Given the description of an element on the screen output the (x, y) to click on. 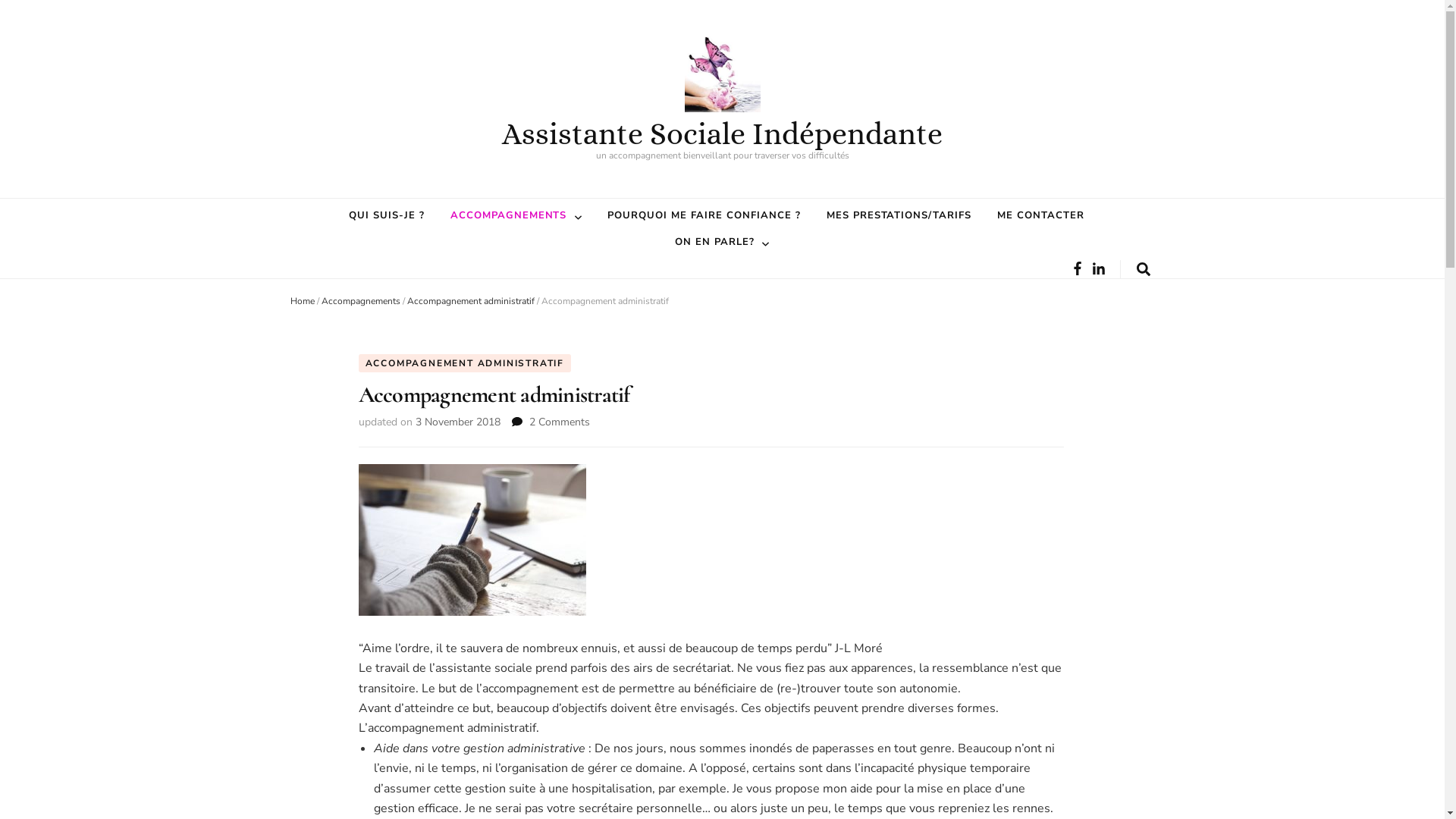
POURQUOI ME FAIRE CONFIANCE ? Element type: text (703, 215)
ON EN PARLE? Element type: text (714, 241)
Accompagnement administratif Element type: text (469, 300)
ME CONTACTER Element type: text (1040, 215)
MES PRESTATIONS/TARIFS Element type: text (898, 215)
Accompagnements Element type: text (360, 300)
Home Element type: text (301, 300)
ACCOMPAGNEMENTS Element type: text (508, 215)
ACCOMPAGNEMENT ADMINISTRATIF Element type: text (463, 363)
2 Comments
on Accompagnement administratif Element type: text (559, 421)
QUI SUIS-JE ? Element type: text (386, 215)
3 November 2018 Element type: text (457, 421)
